Given the description of an element on the screen output the (x, y) to click on. 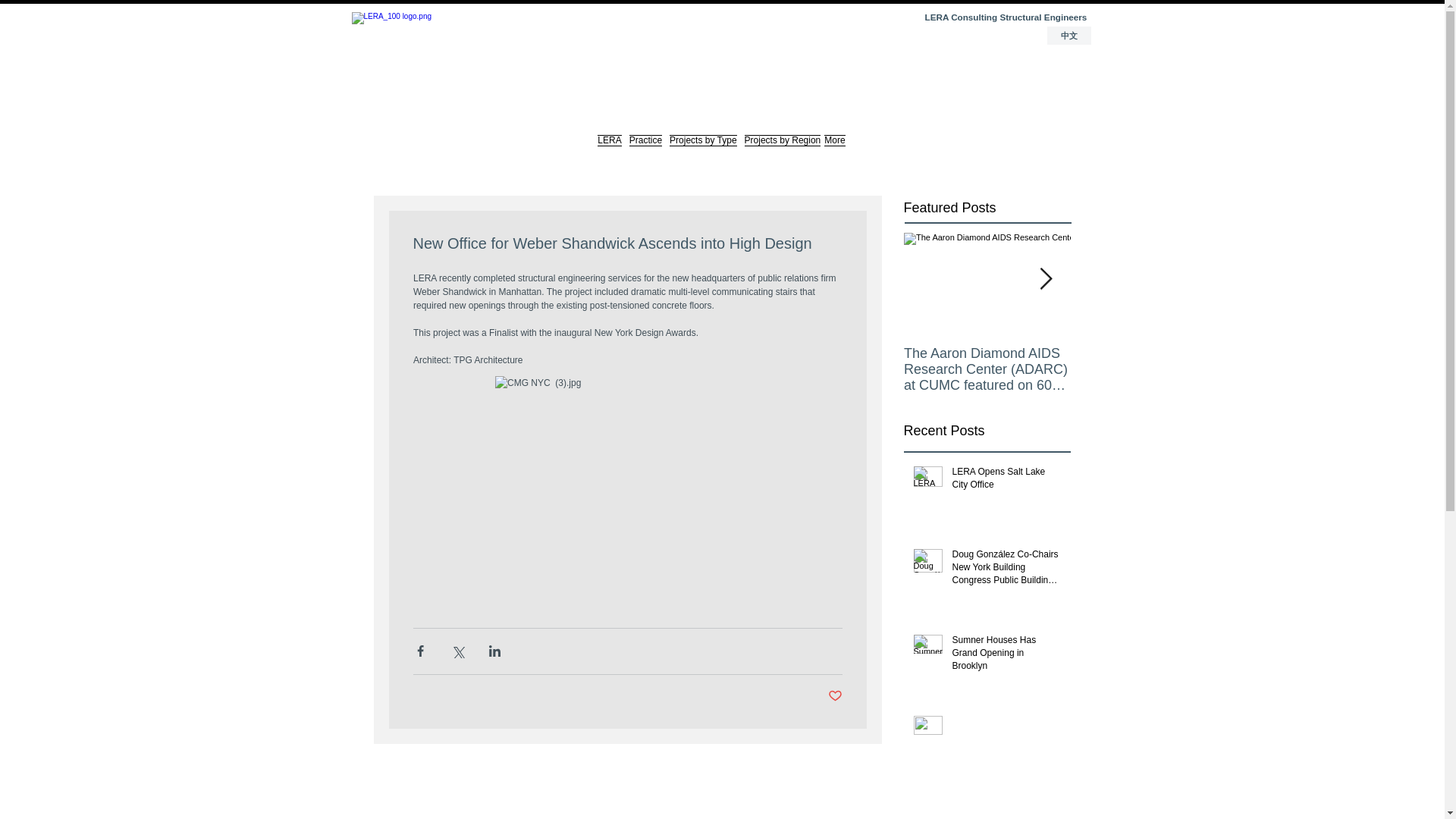
LERA Opens Salt Lake City Office (1006, 481)
LERA.jpg (420, 56)
Post not marked as liked (835, 696)
Projects by Type (703, 146)
Projects by Region (781, 146)
LERA Consulting Structural Engineers (1005, 18)
Practice (645, 146)
LERA (610, 146)
